Given the description of an element on the screen output the (x, y) to click on. 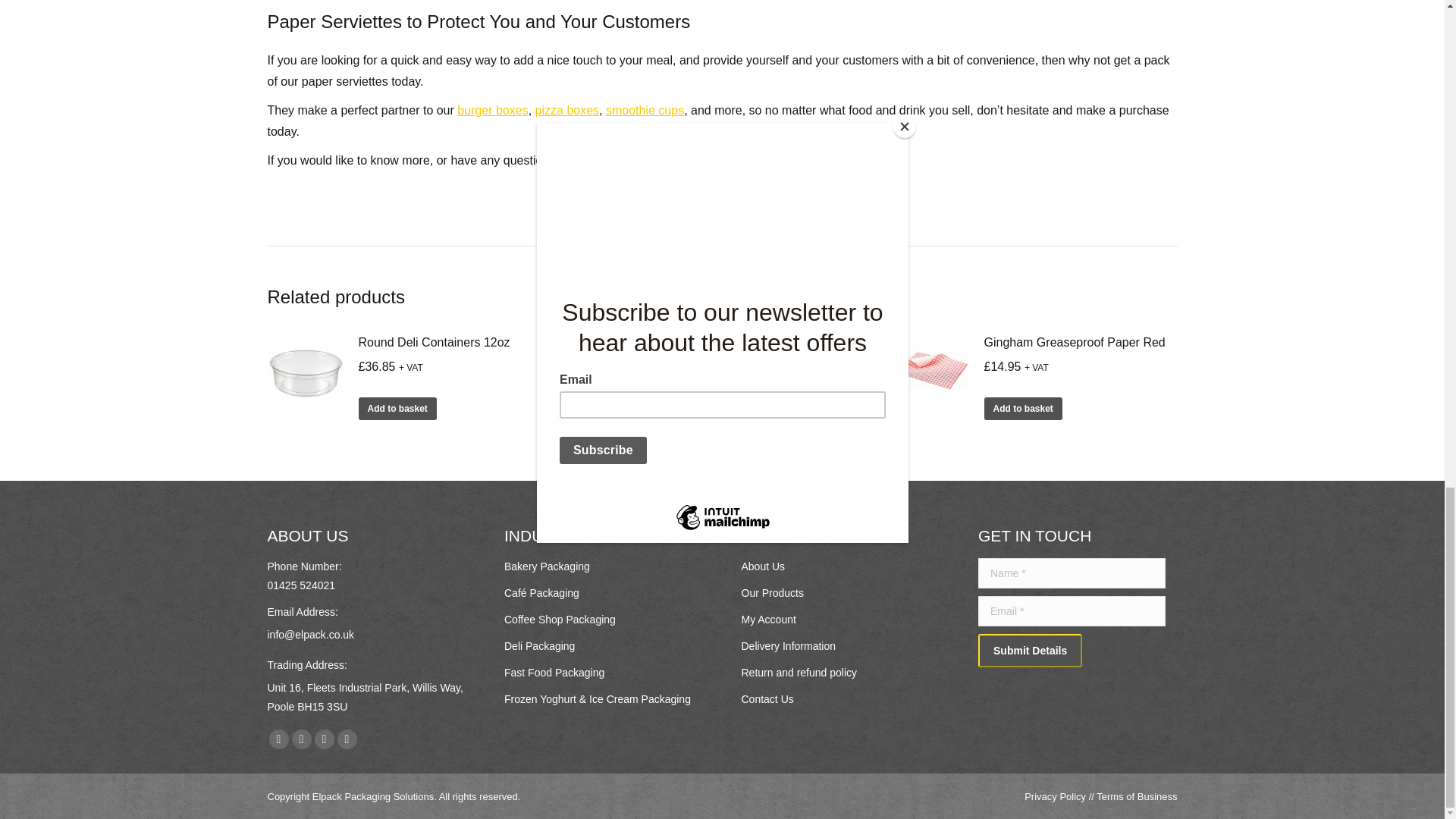
Facebook page opens in new window (277, 739)
Instagram page opens in new window (346, 739)
Submit Details (1029, 650)
Linkedin page opens in new window (323, 739)
X page opens in new window (301, 739)
